Given the description of an element on the screen output the (x, y) to click on. 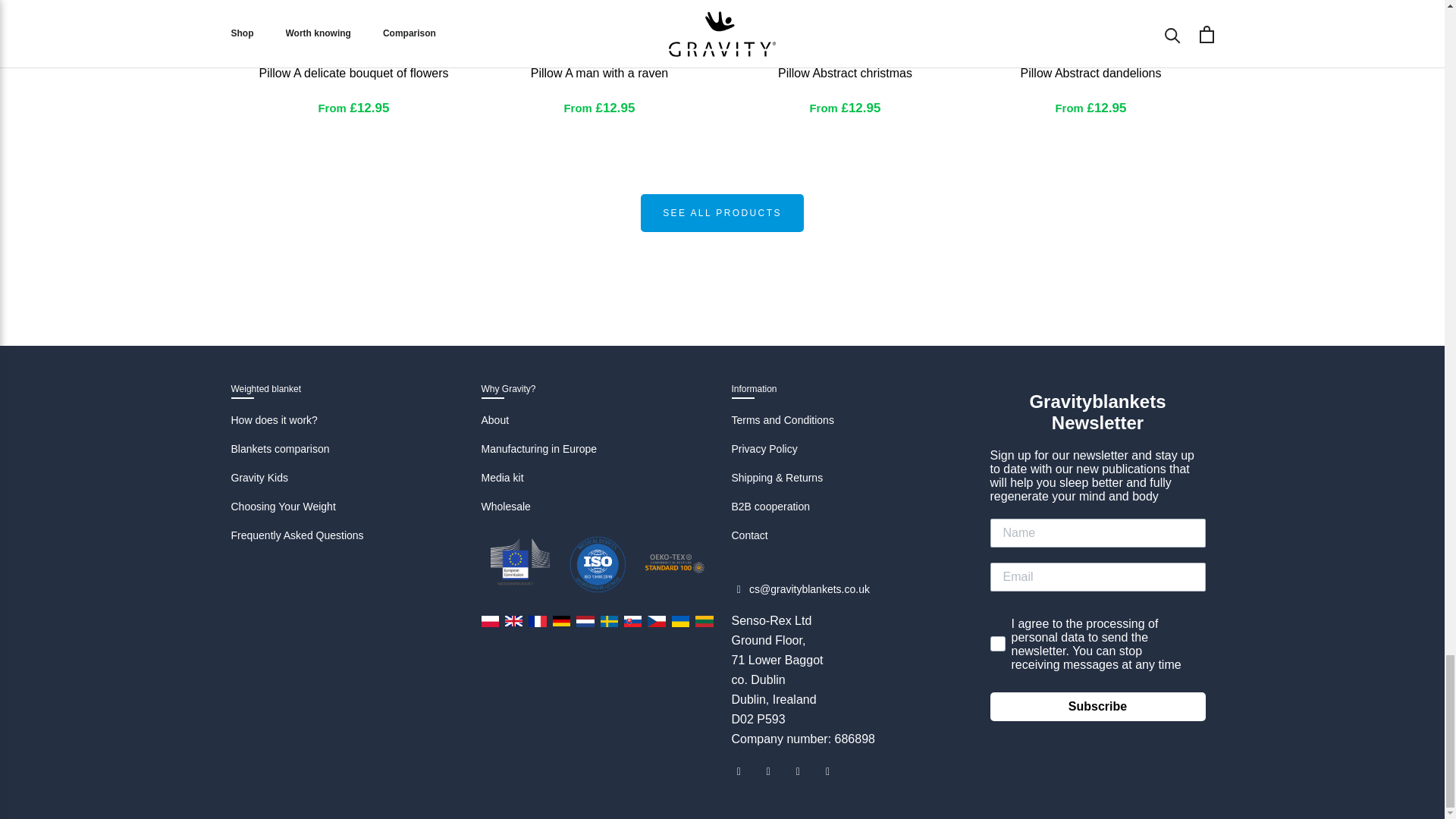
on (995, 611)
